Given the description of an element on the screen output the (x, y) to click on. 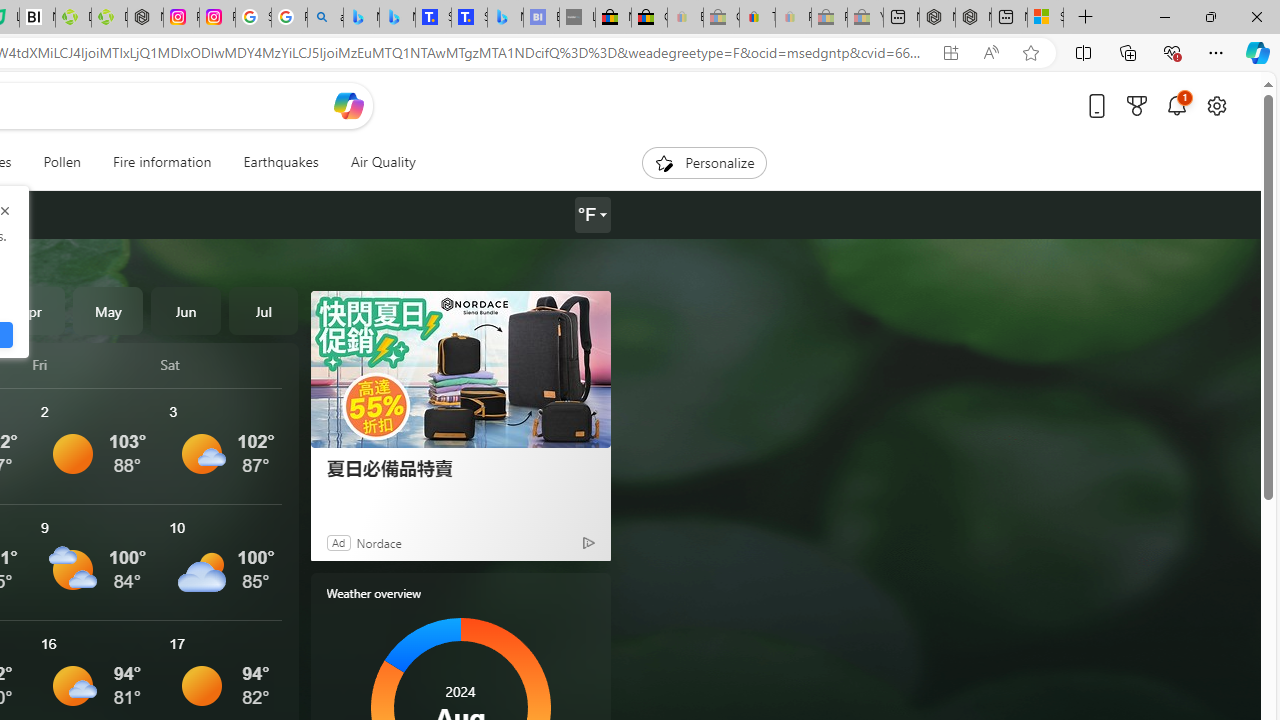
Jul (263, 310)
May (107, 310)
Sat (221, 363)
